Given the description of an element on the screen output the (x, y) to click on. 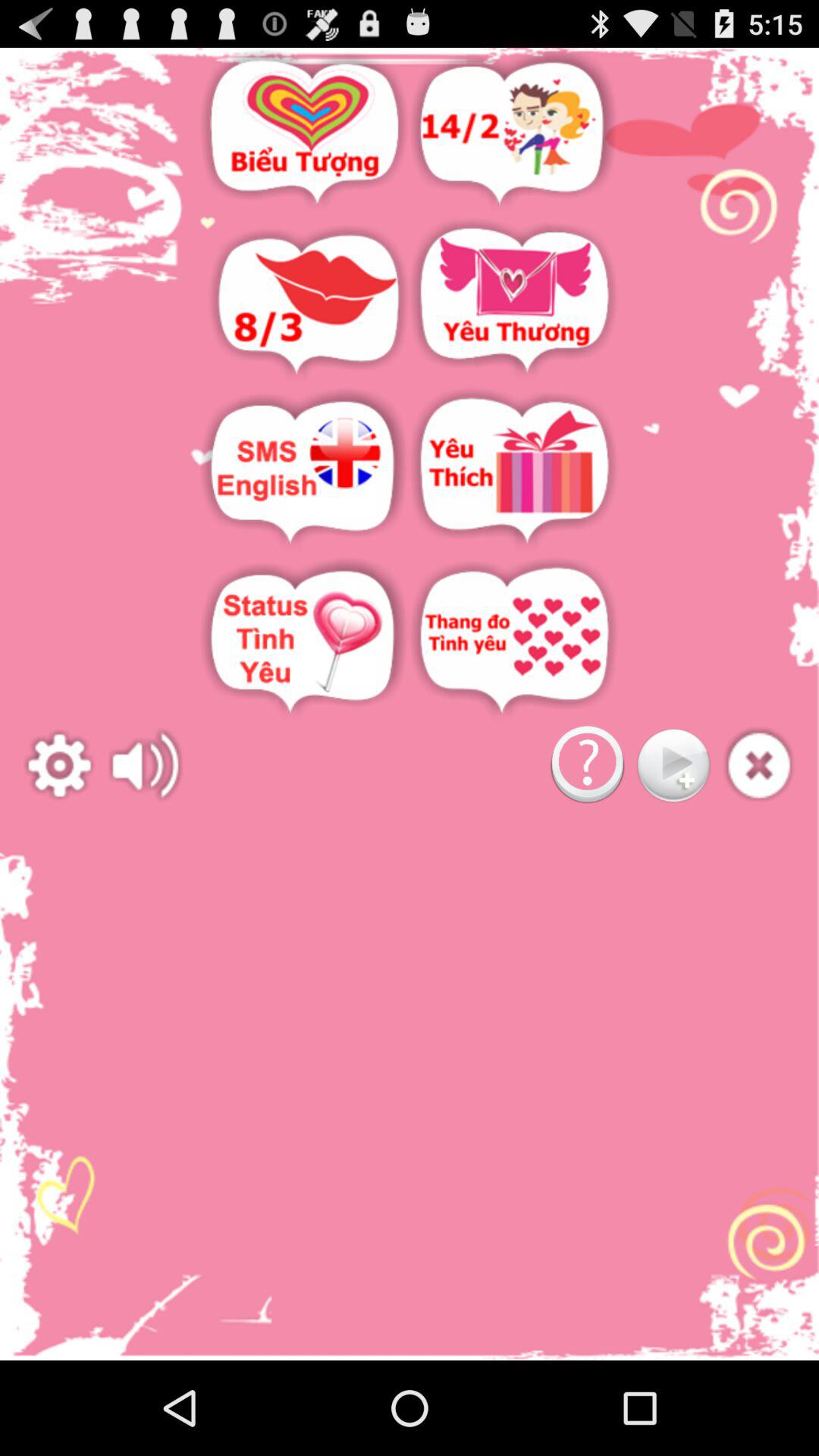
go to setting box (59, 765)
